Given the description of an element on the screen output the (x, y) to click on. 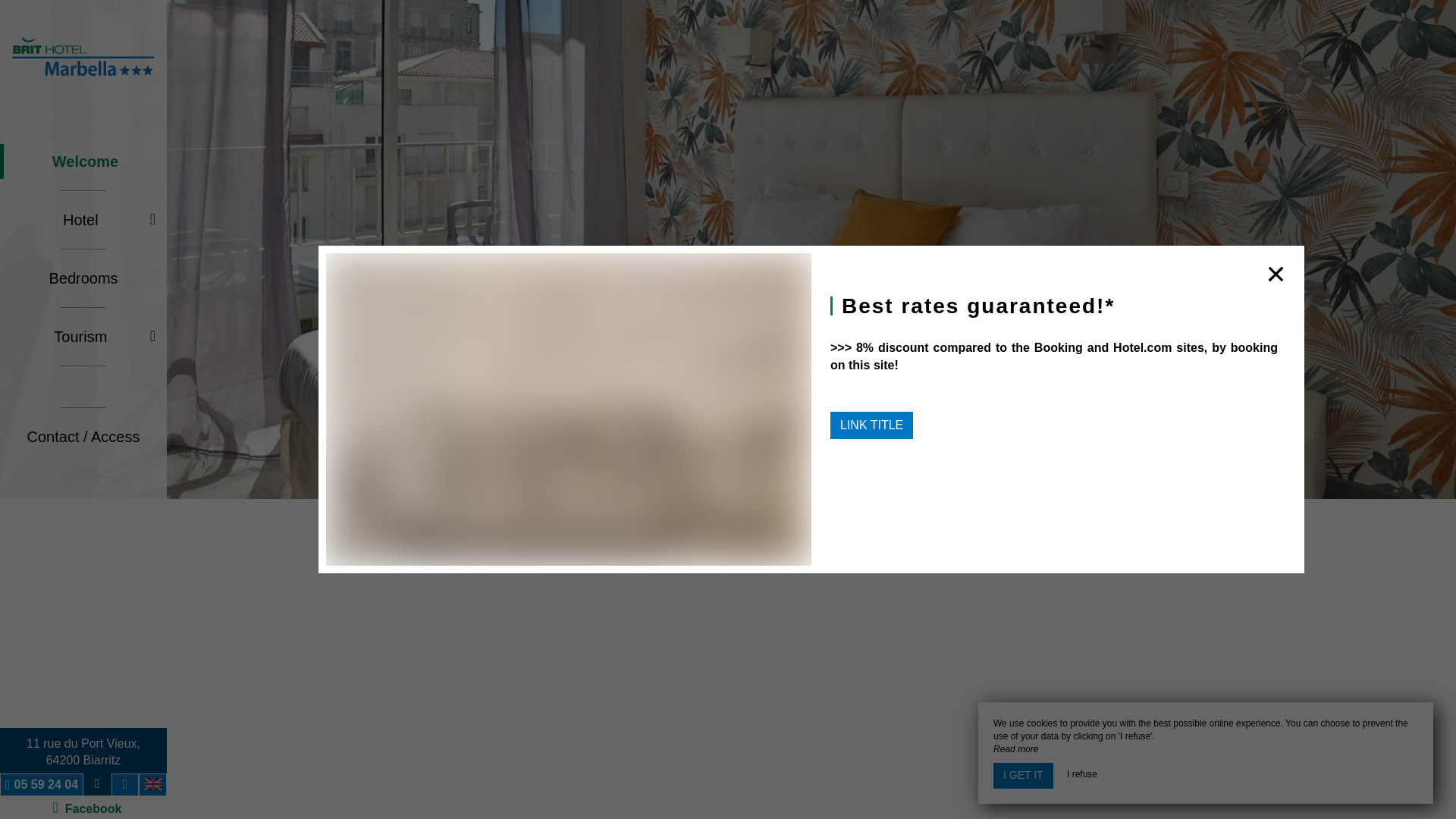
Tourism (82, 431)
  Facebook (83, 17)
Tourism (83, 488)
LINK TITLE (83, 17)
05 59 24 04 06 (870, 104)
I GET IT (46, 473)
